Given the description of an element on the screen output the (x, y) to click on. 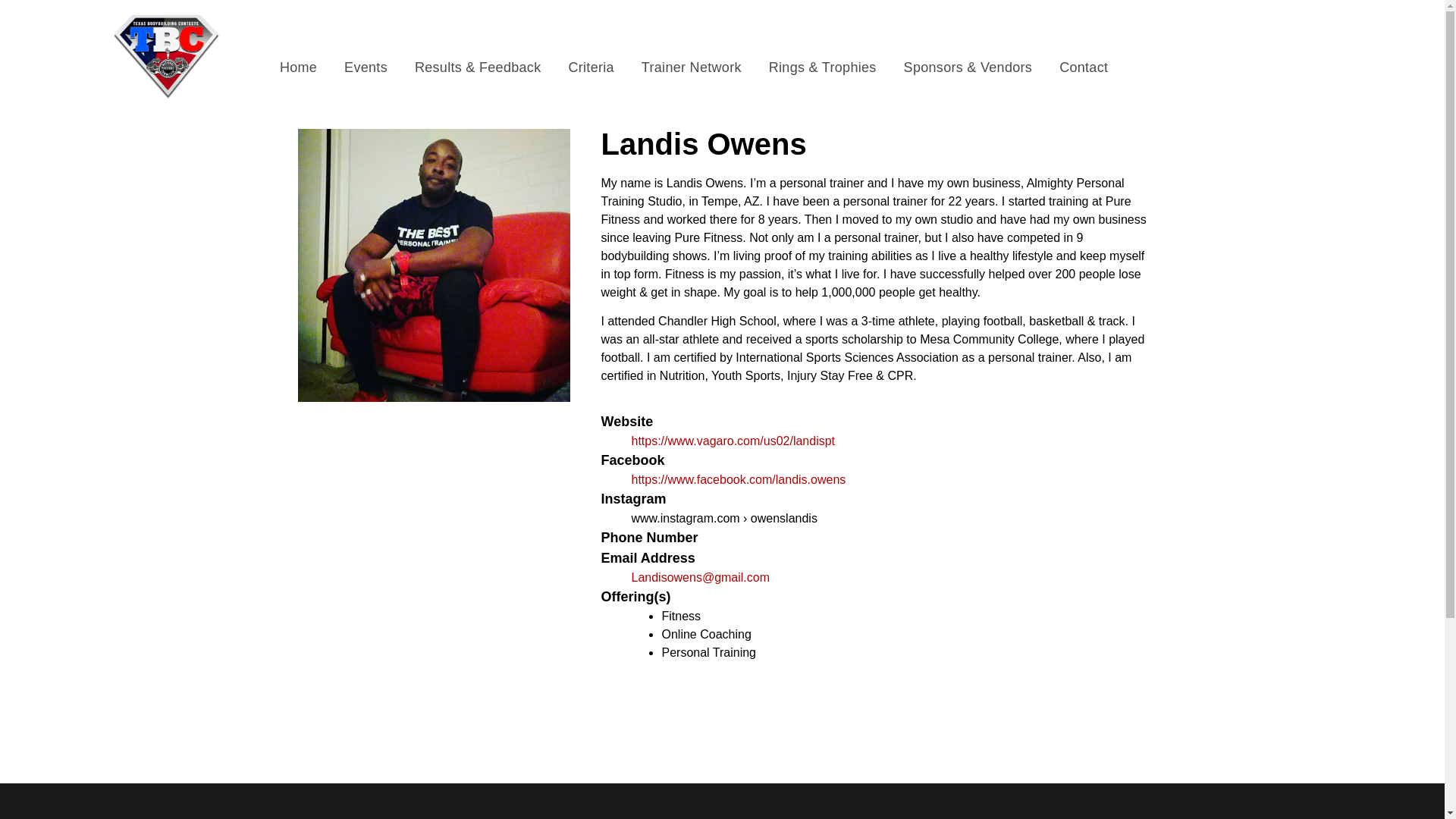
Home (298, 67)
Events (365, 67)
